Given the description of an element on the screen output the (x, y) to click on. 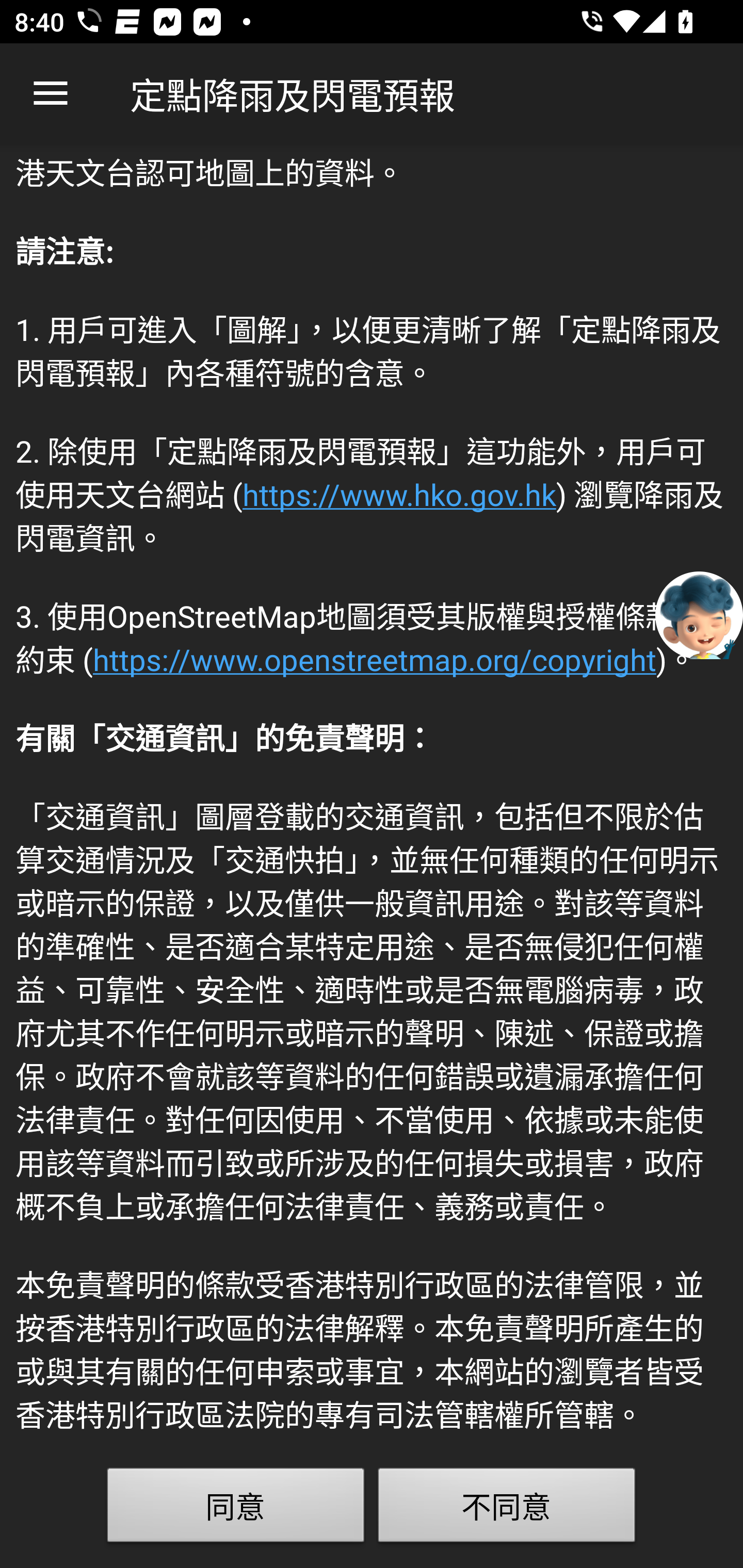
向上瀏覽 (50, 93)
聊天機械人 (699, 614)
同意 (235, 1509)
不同意 (506, 1509)
